Given the description of an element on the screen output the (x, y) to click on. 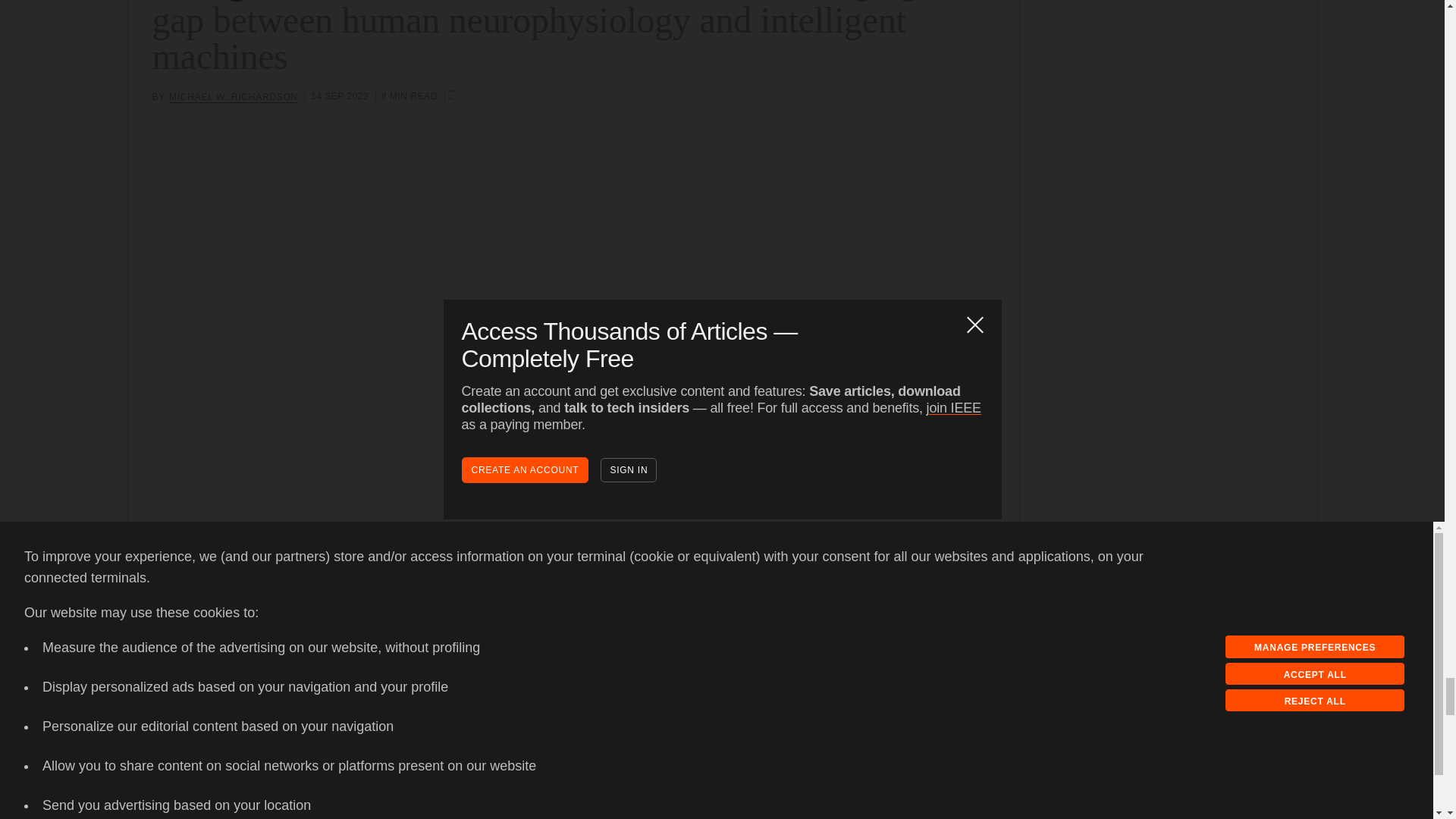
Copy this link to clipboard (192, 714)
